Given the description of an element on the screen output the (x, y) to click on. 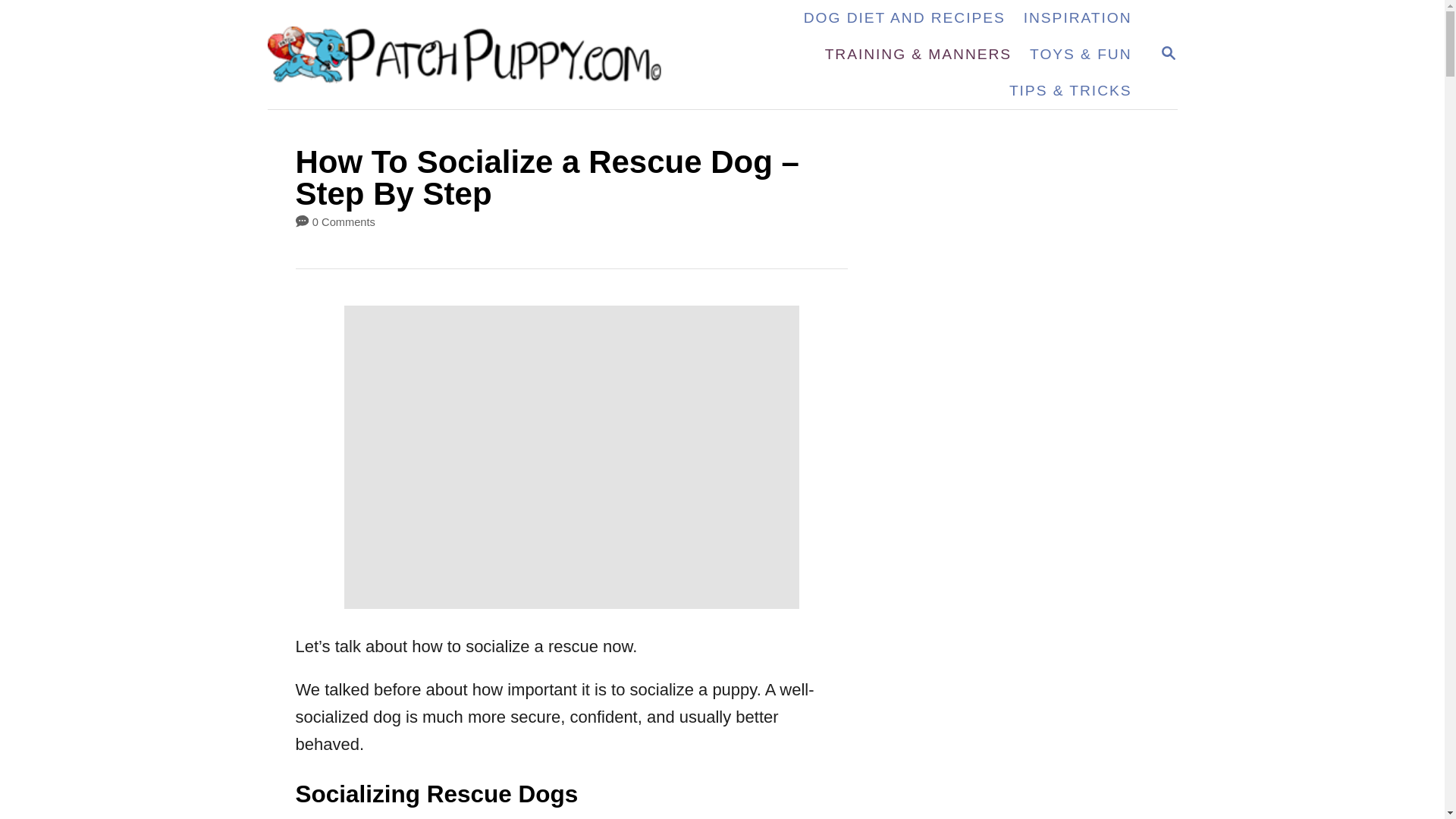
DOG DIET AND RECIPES (1167, 54)
MAGNIFYING GLASS (904, 18)
INSPIRATION (1167, 53)
PatchPuppy.com (1077, 18)
